Given the description of an element on the screen output the (x, y) to click on. 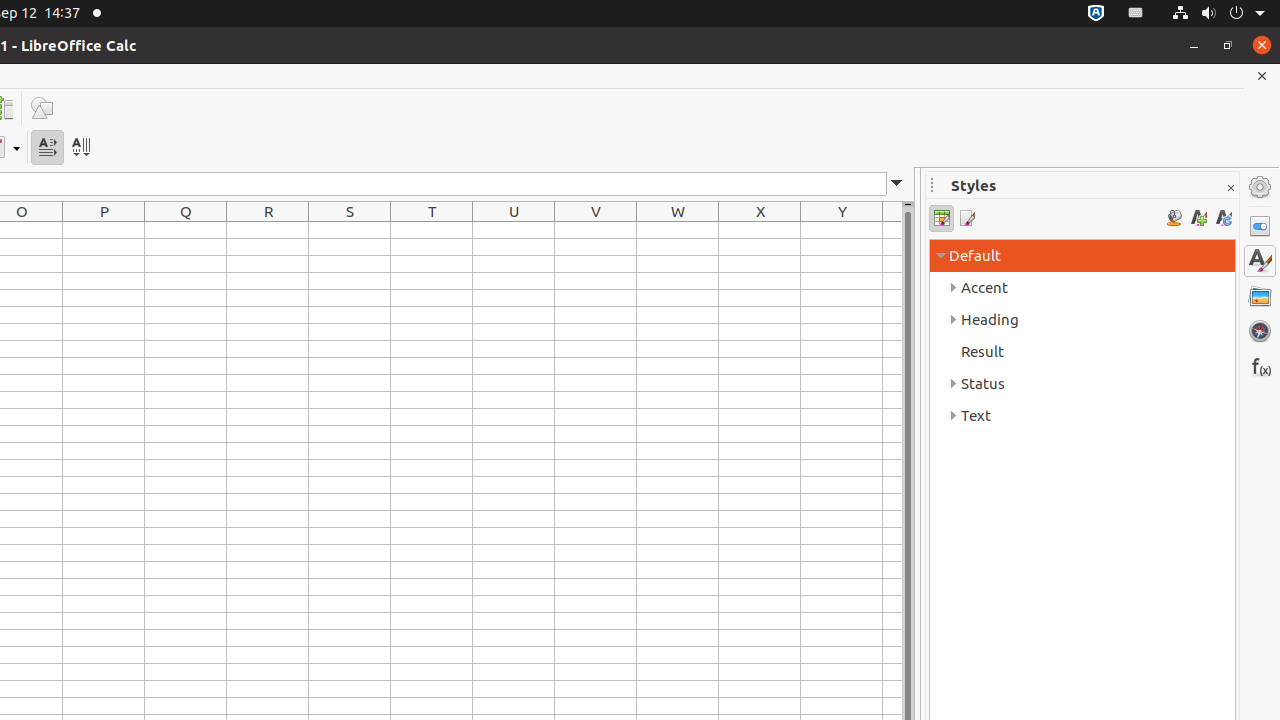
T1 Element type: table-cell (432, 230)
P1 Element type: table-cell (104, 230)
V1 Element type: table-cell (596, 230)
Update Style Element type: push-button (1223, 218)
Fill Format Mode Element type: push-button (1173, 218)
